Given the description of an element on the screen output the (x, y) to click on. 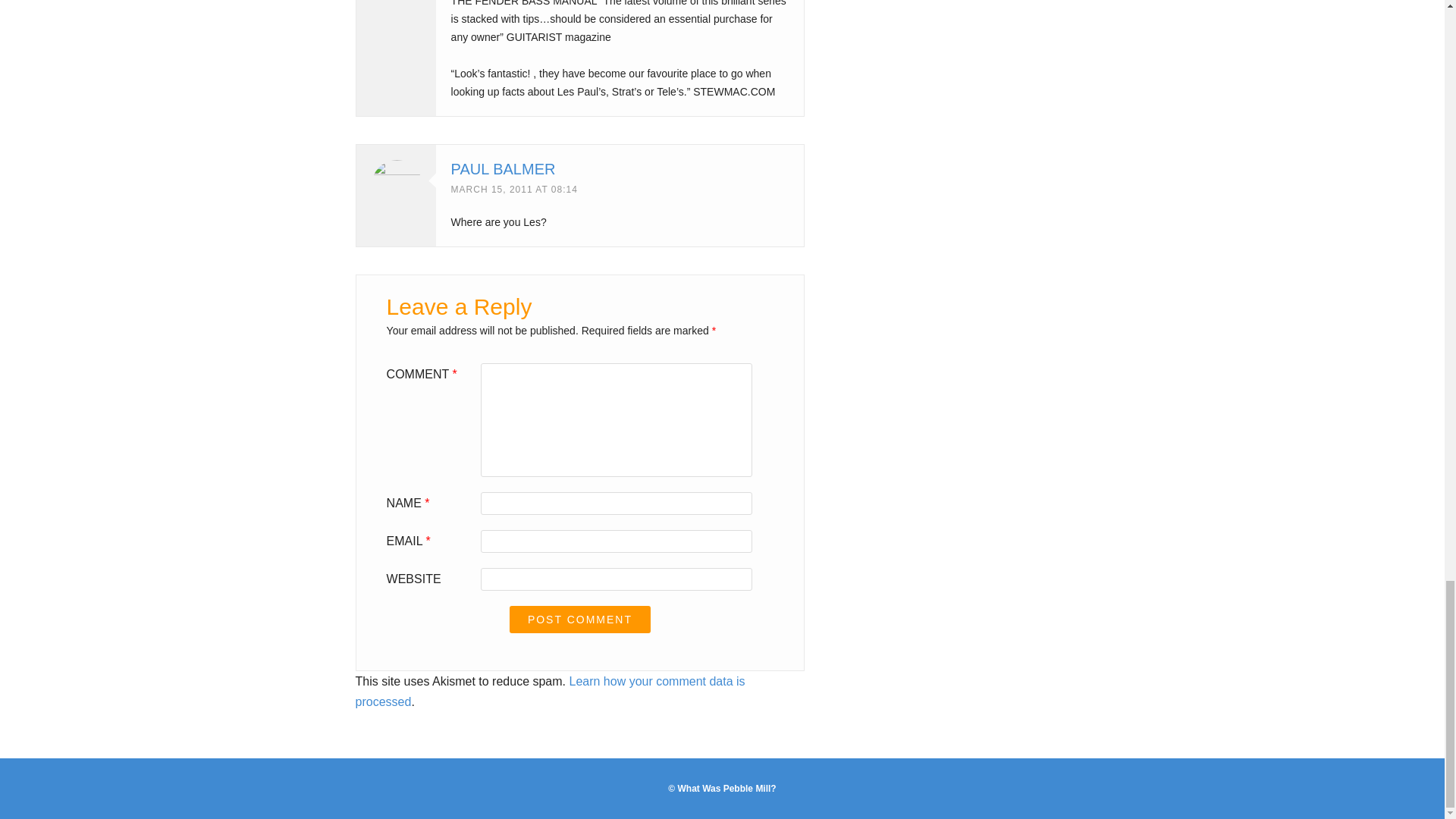
PAUL BALMER (503, 168)
MARCH 15, 2011 AT 08:14 (514, 189)
Post Comment (579, 619)
Post Comment (579, 619)
Learn how your comment data is processed (550, 690)
